Given the description of an element on the screen output the (x, y) to click on. 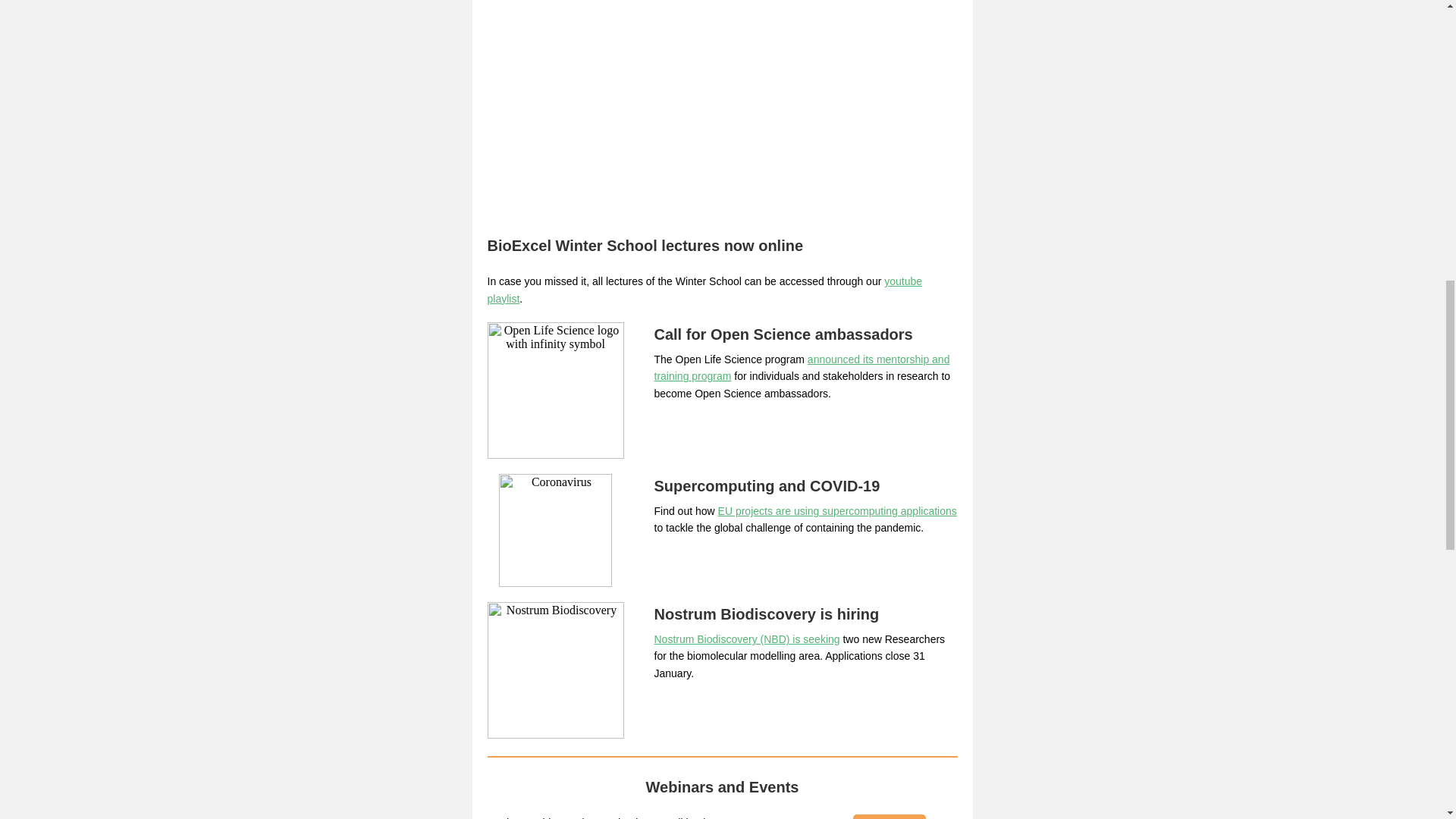
Register (887, 816)
announced its mentorship and training program (801, 367)
youtube playlist (703, 289)
EU projects are using supercomputing applications (836, 510)
